Given the description of an element on the screen output the (x, y) to click on. 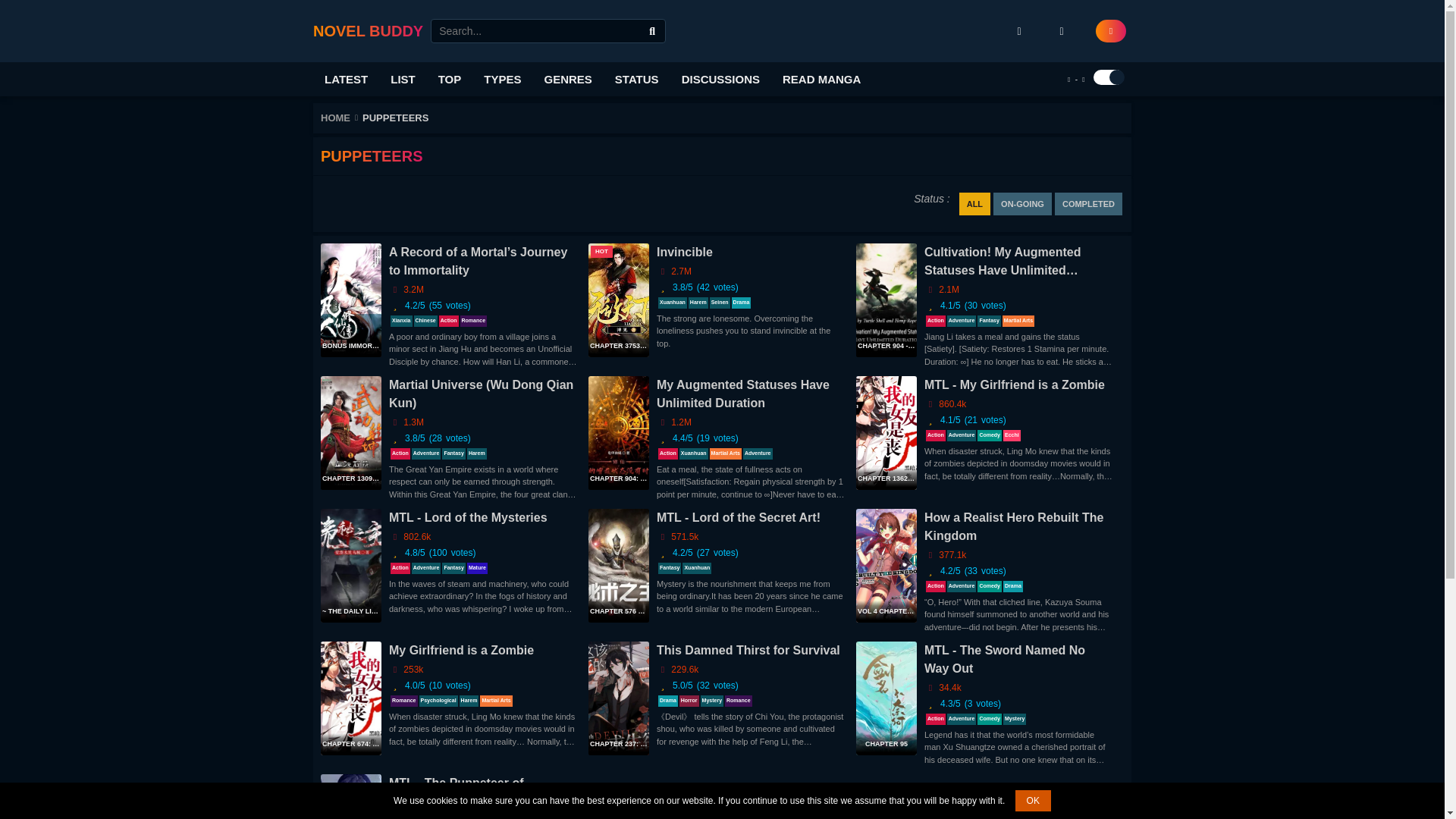
Advance search (652, 31)
LATEST (345, 79)
NOVEL BUDDY (368, 30)
Bookmark (1019, 30)
LIST (402, 79)
Reading history (1062, 30)
Latest update (345, 79)
GENRES (567, 79)
HOME PAGE (368, 30)
TOP (449, 79)
TYPES (501, 79)
